Given the description of an element on the screen output the (x, y) to click on. 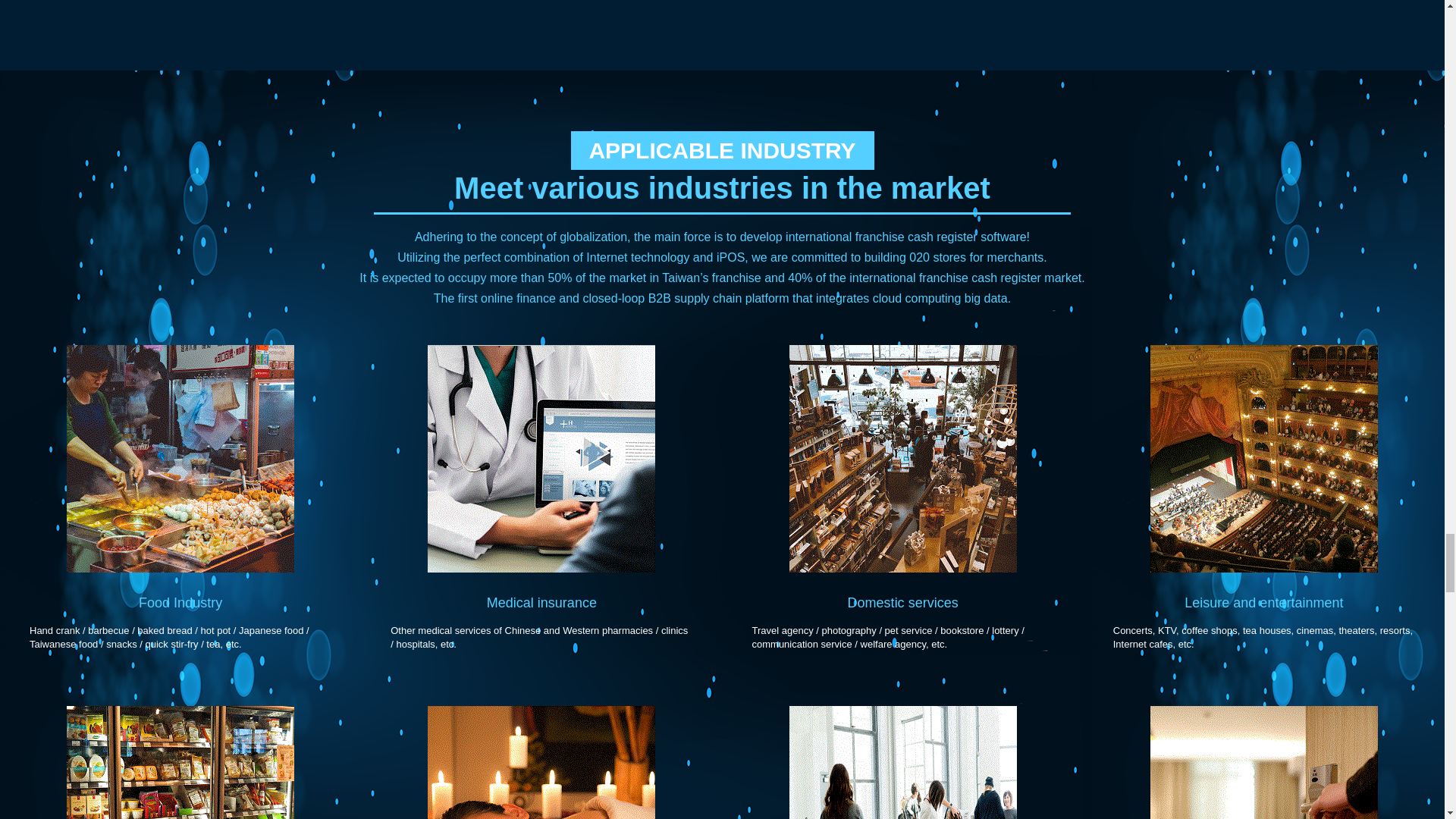
Medical insurance (541, 602)
Domestic services (902, 602)
Food Industry (180, 602)
Leisure and entertainment (1263, 602)
